Given the description of an element on the screen output the (x, y) to click on. 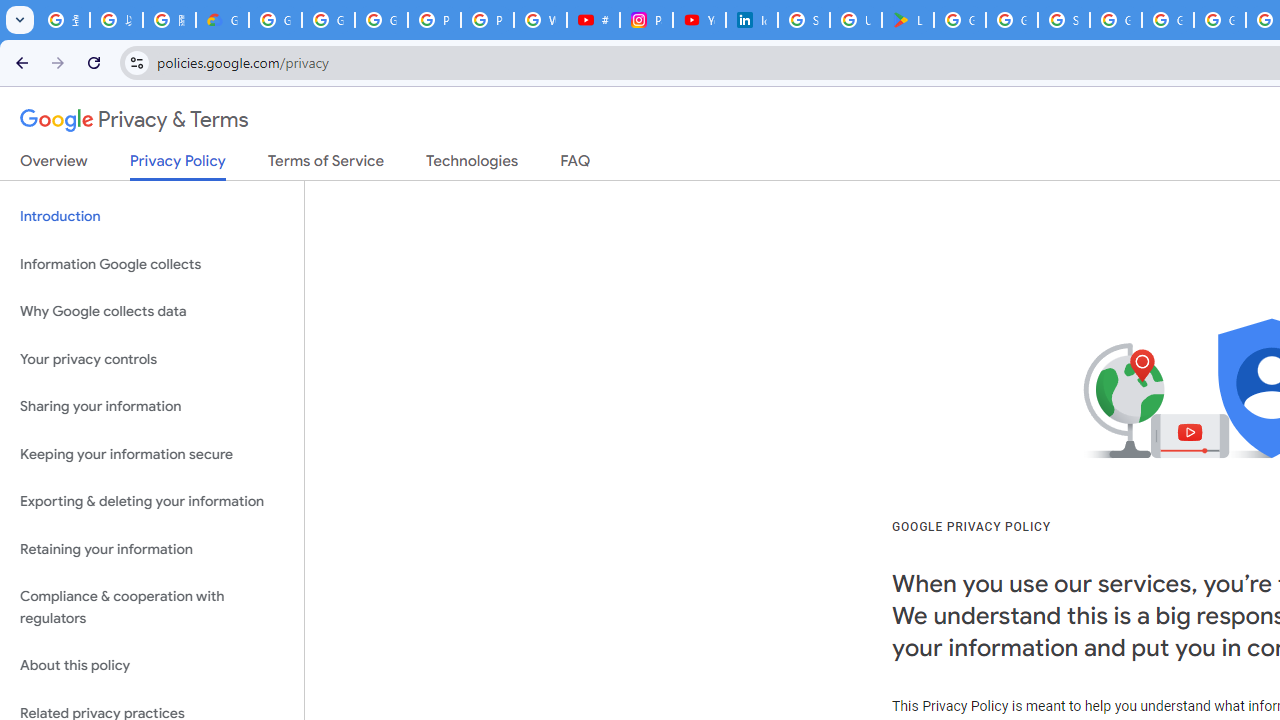
#nbabasketballhighlights - YouTube (593, 20)
